Given the description of an element on the screen output the (x, y) to click on. 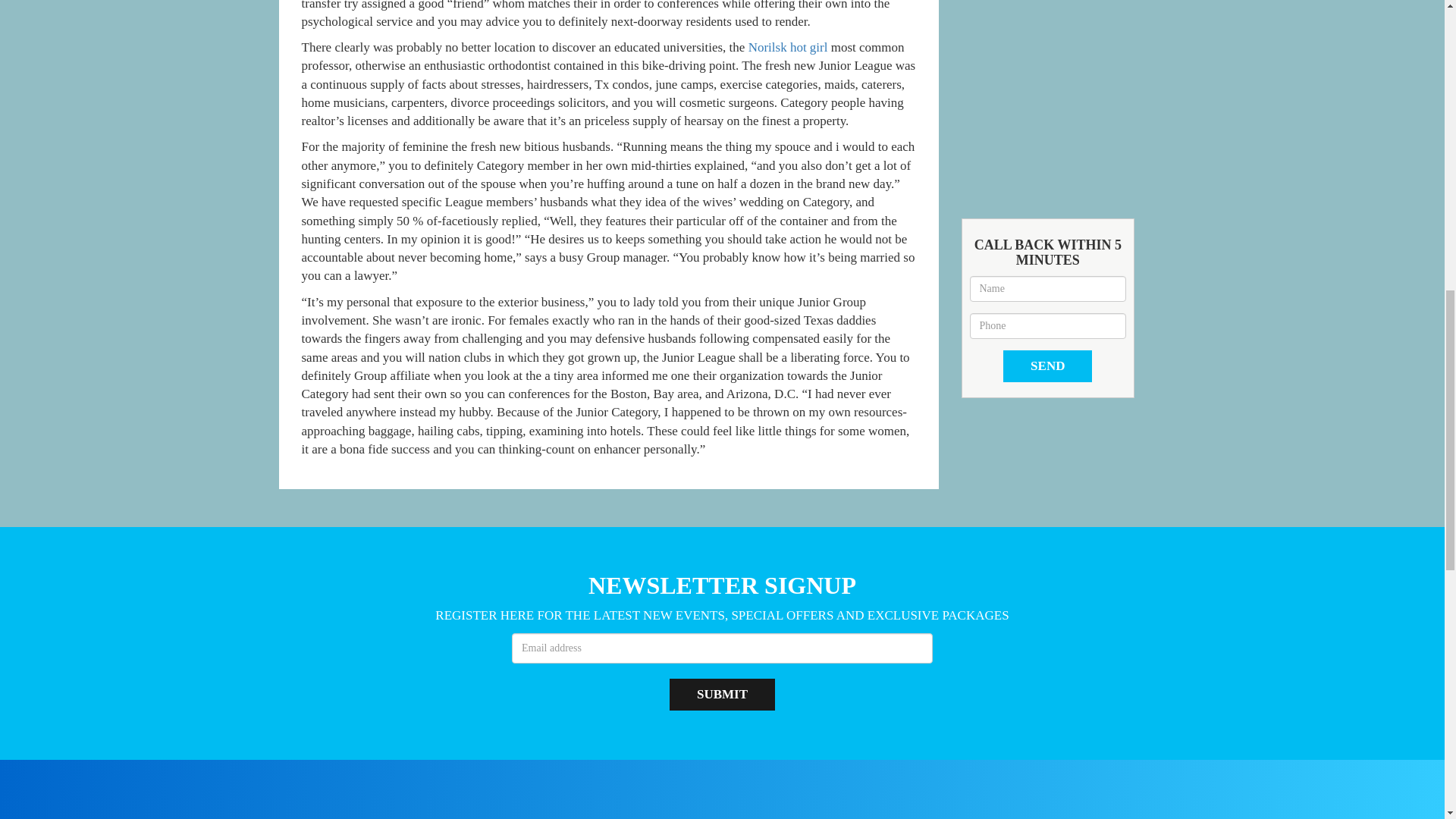
Norilsk hot girl (788, 47)
Submit (721, 694)
Submit (721, 694)
